Given the description of an element on the screen output the (x, y) to click on. 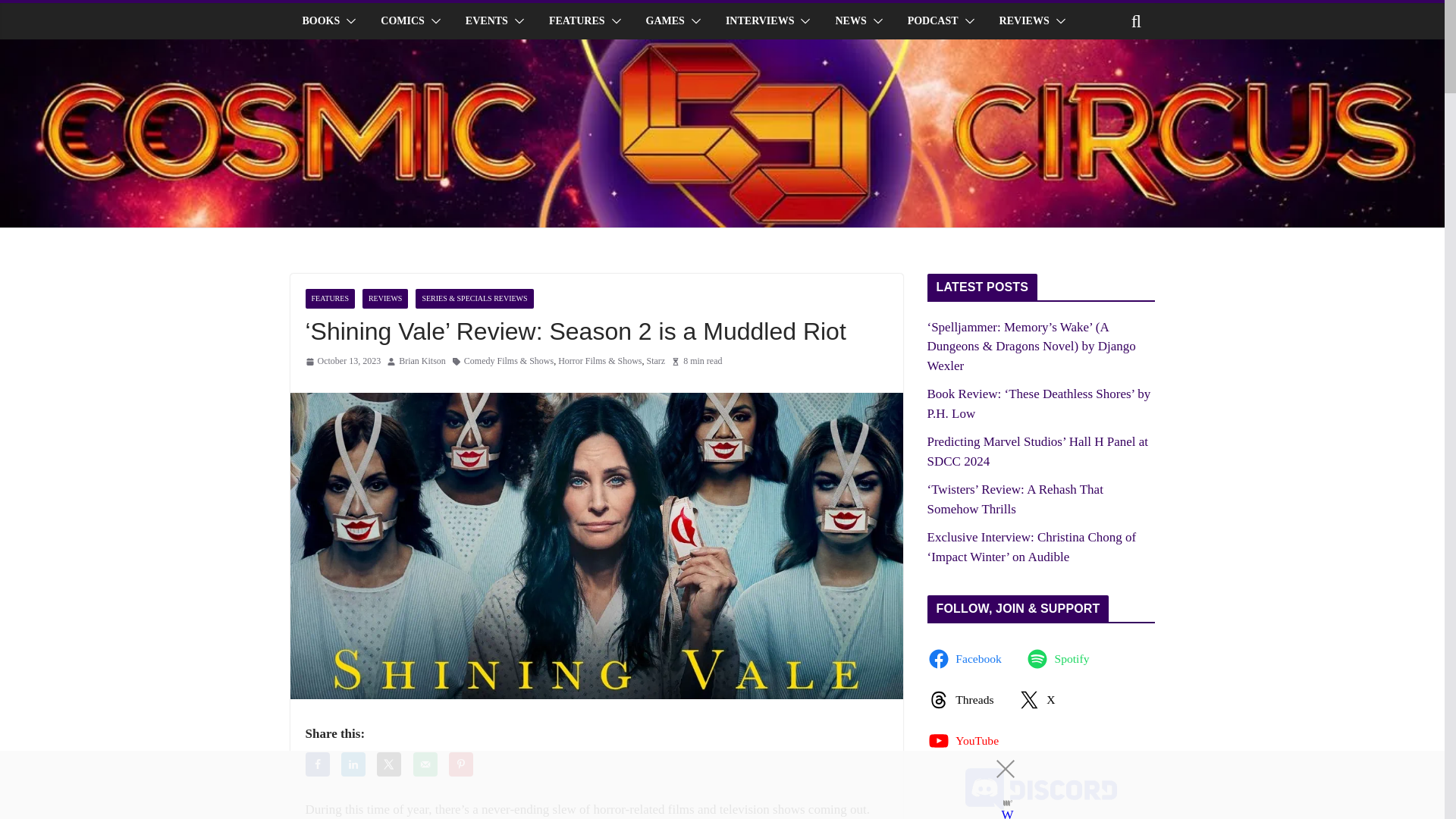
FEATURES (576, 20)
Share on LinkedIn (352, 764)
Save to Pinterest (460, 764)
COMICS (402, 20)
Send over email (425, 764)
Share on Facebook (316, 764)
Share on X (389, 764)
BOOKS (320, 20)
EVENTS (486, 20)
Brian Kitson (421, 360)
2:33 pm (342, 360)
